Given the description of an element on the screen output the (x, y) to click on. 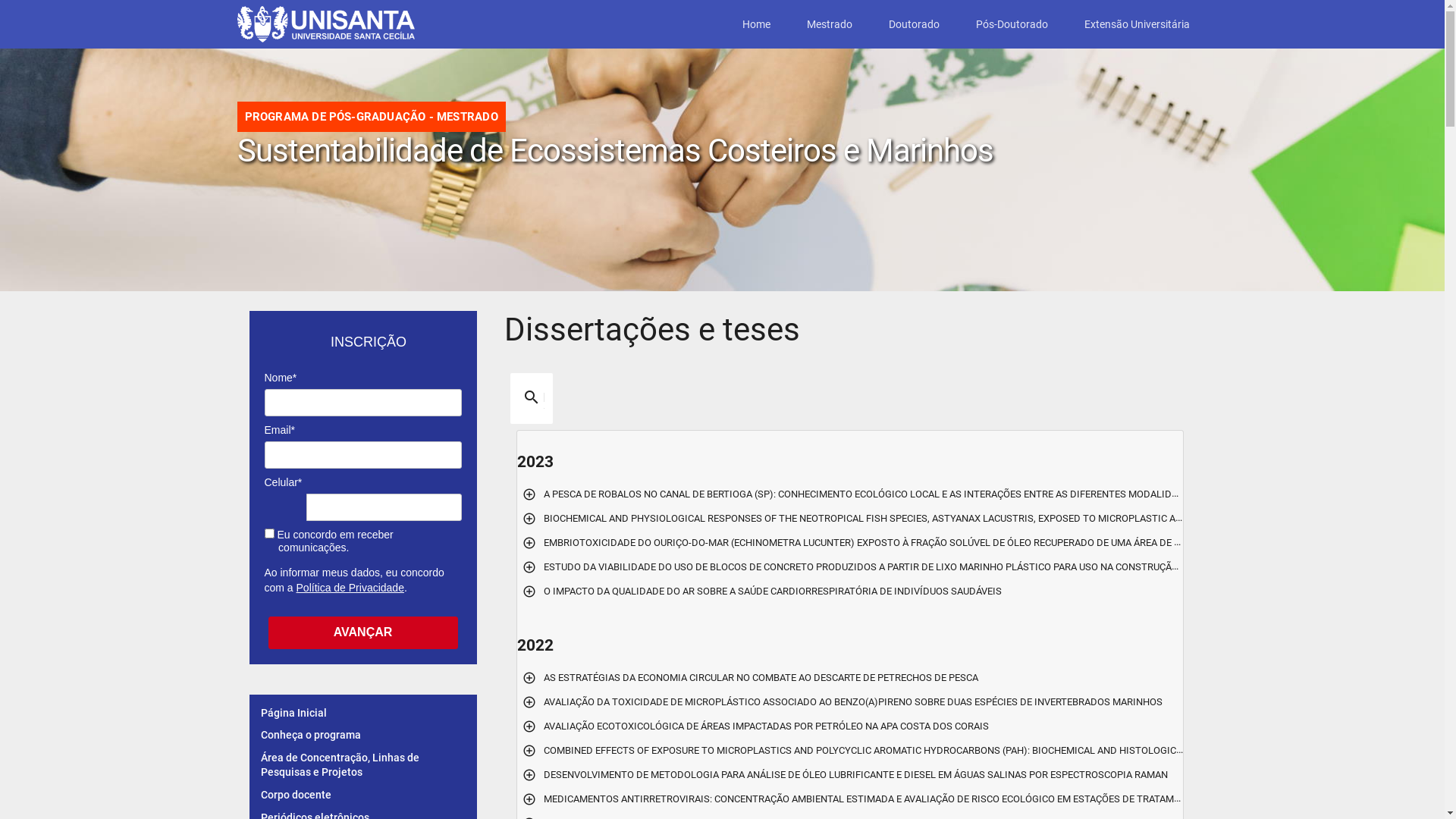
Corpo docente Element type: text (295, 794)
Home Element type: text (755, 24)
Doutorado Element type: text (913, 24)
Mestrado Element type: text (829, 24)
